Given the description of an element on the screen output the (x, y) to click on. 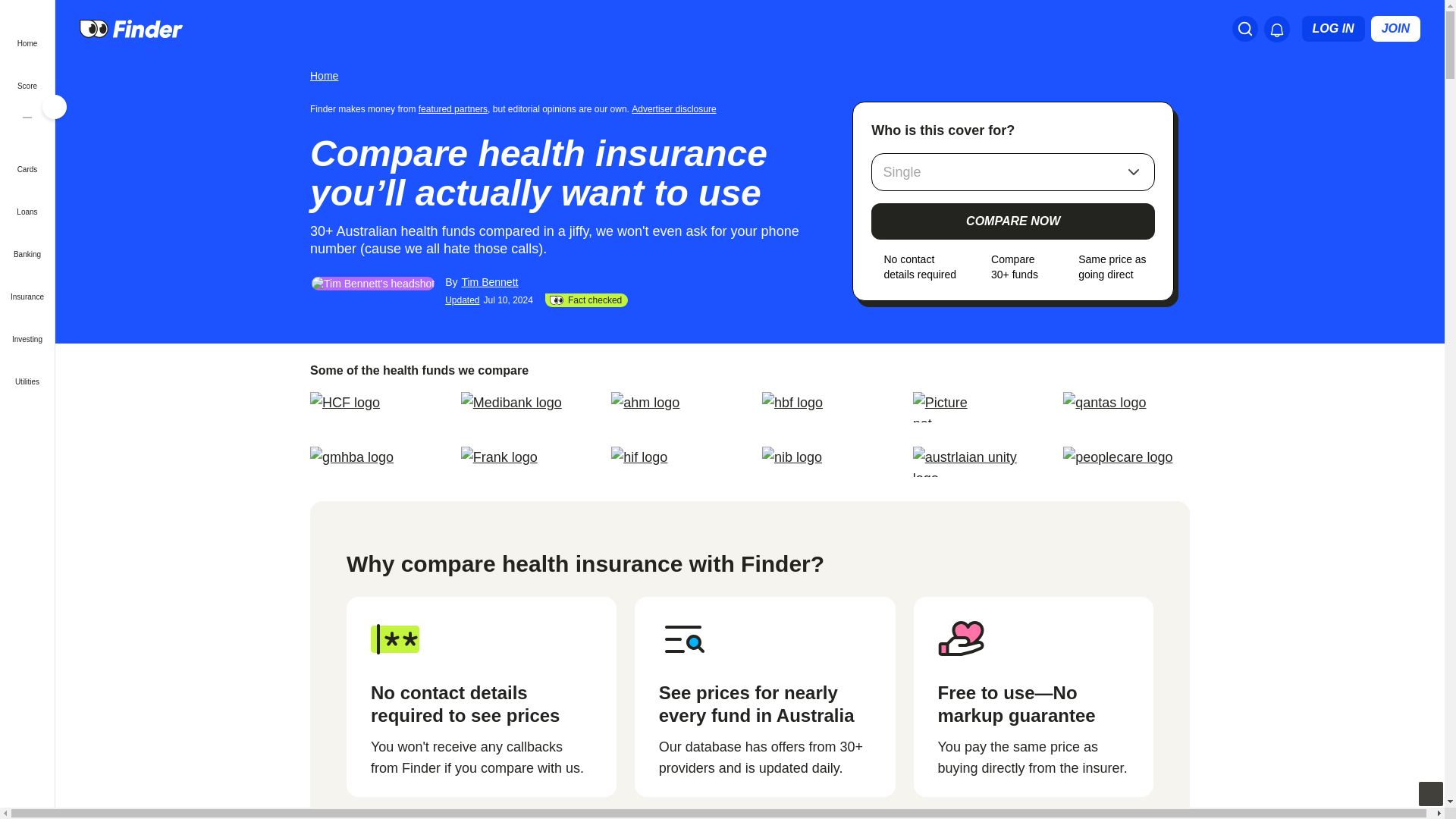
Image: Supplied (940, 407)
hif logo (674, 461)
ahm logo (674, 407)
nib logo (824, 461)
hbf logo (824, 407)
gmhba logo (373, 461)
Frank logo (524, 461)
peoplecare logo (1125, 461)
qantas logo (1125, 407)
Medibank logo (524, 407)
HCF logo (373, 407)
australian unity logo (975, 461)
Back to Top (1430, 793)
Important information about this website (676, 108)
